Given the description of an element on the screen output the (x, y) to click on. 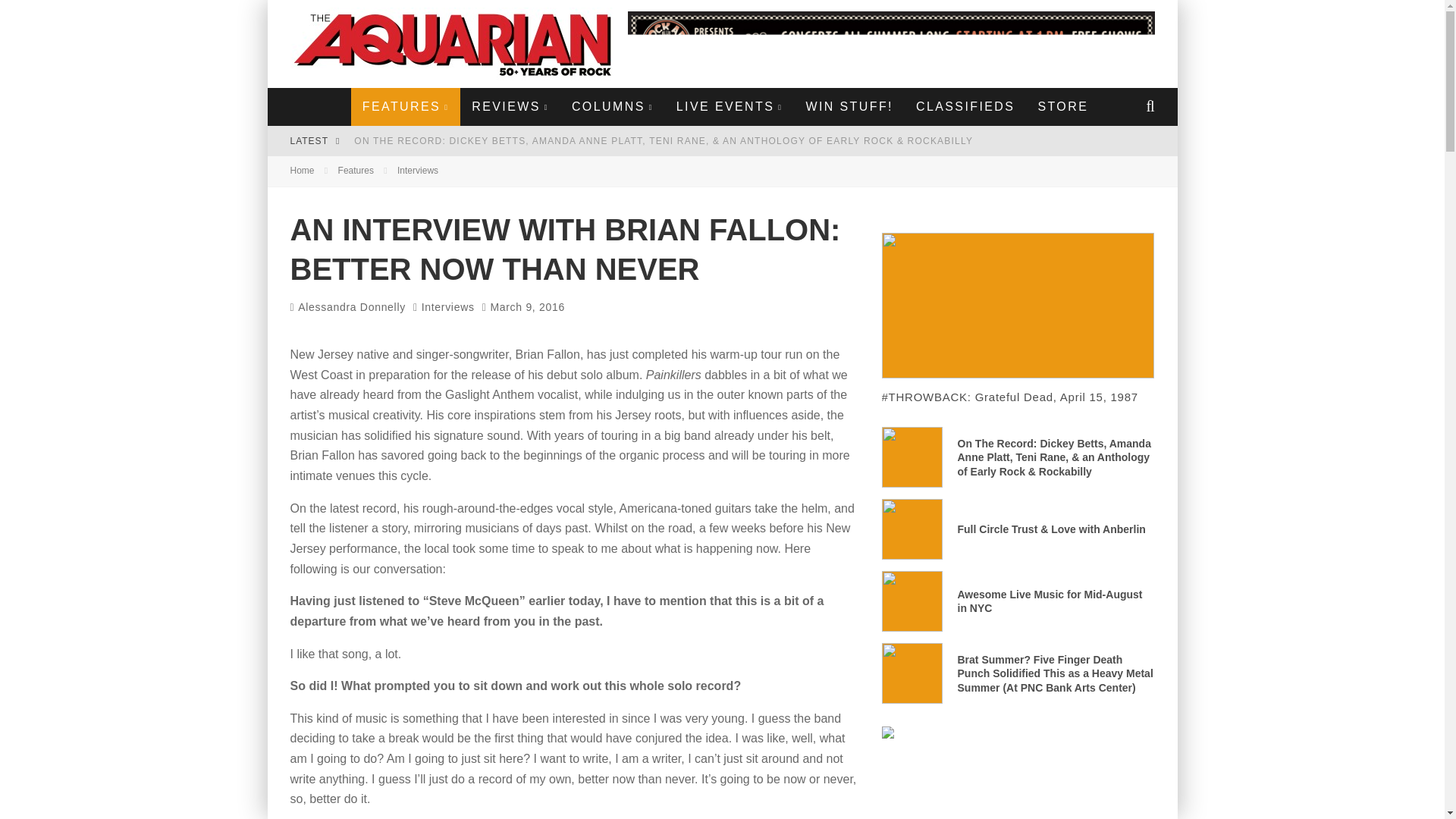
FEATURES (405, 106)
COLUMNS (612, 106)
REVIEWS (510, 106)
